Given the description of an element on the screen output the (x, y) to click on. 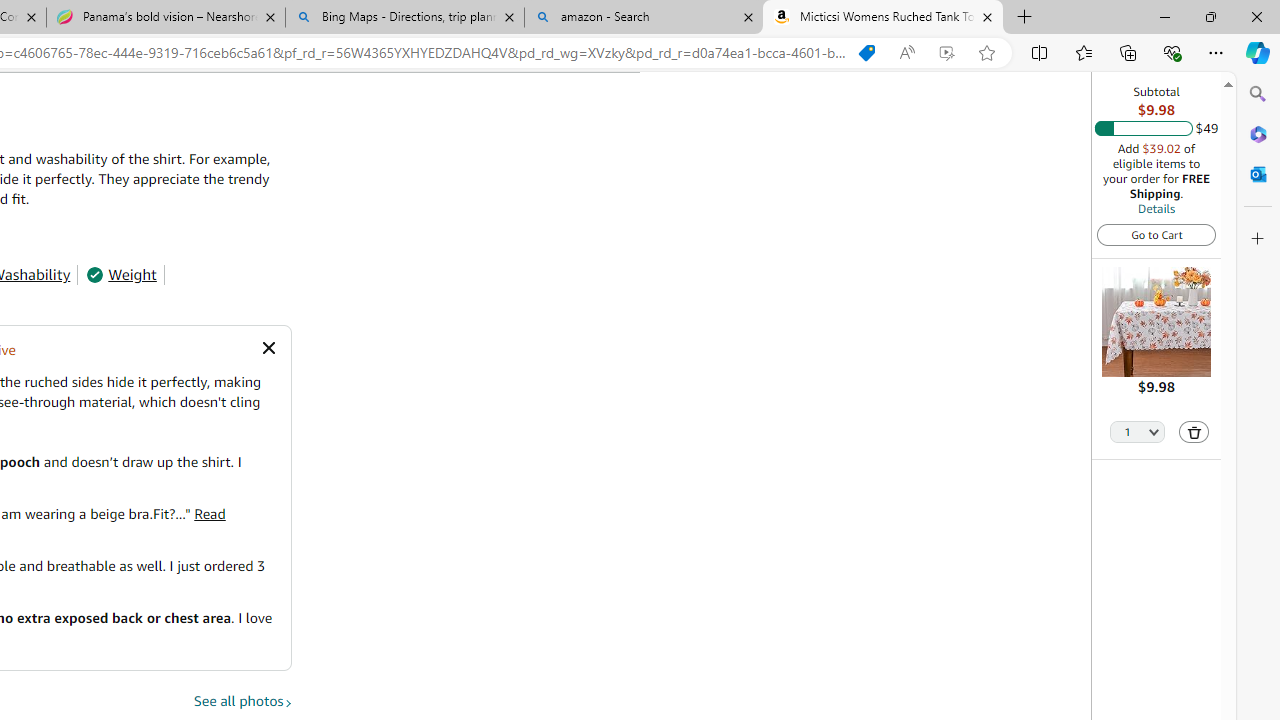
Weight (121, 274)
